Given the description of an element on the screen output the (x, y) to click on. 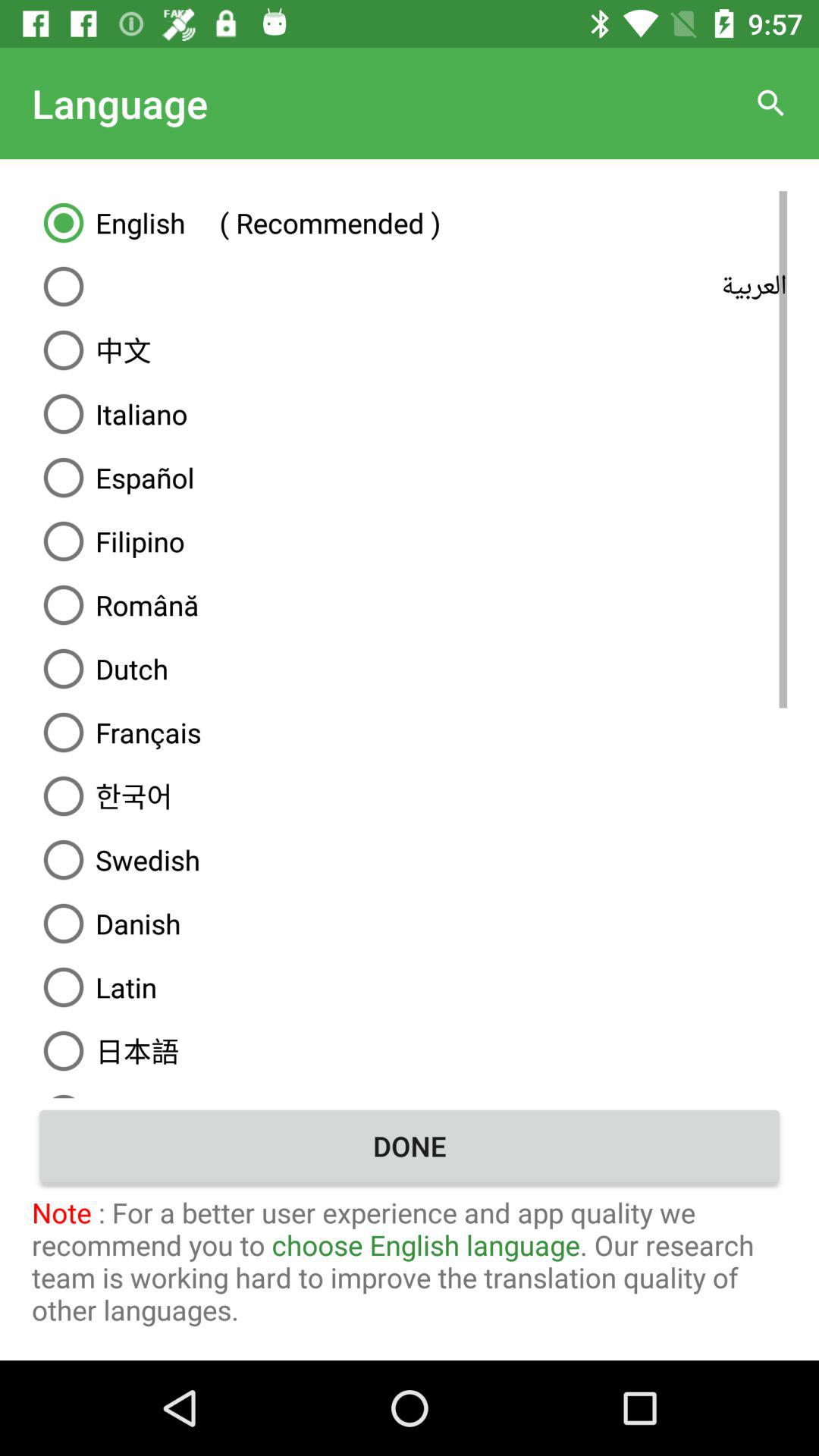
turn off icon above latin icon (409, 923)
